Given the description of an element on the screen output the (x, y) to click on. 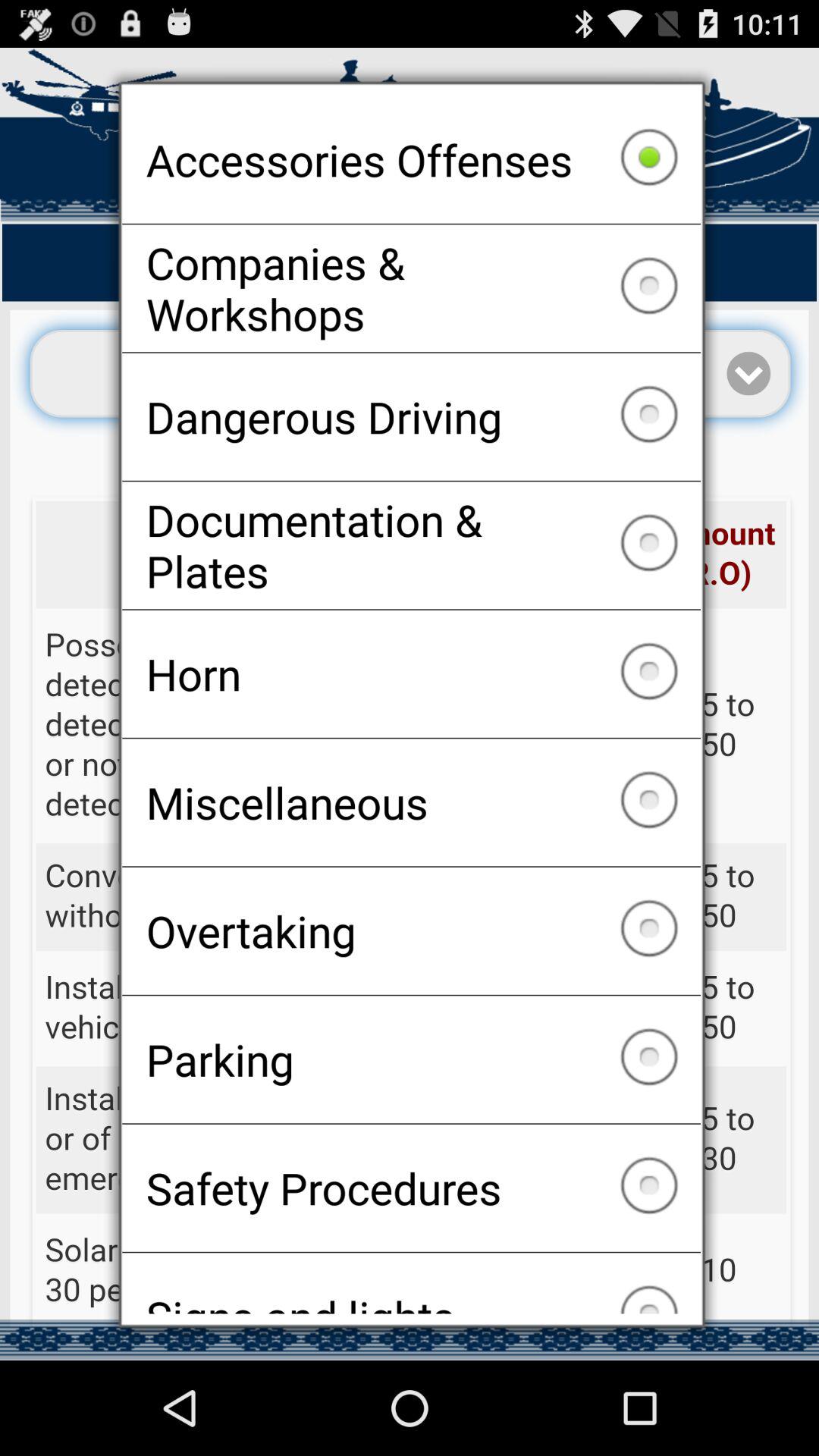
turn off the item above the companies & workshops checkbox (411, 159)
